Given the description of an element on the screen output the (x, y) to click on. 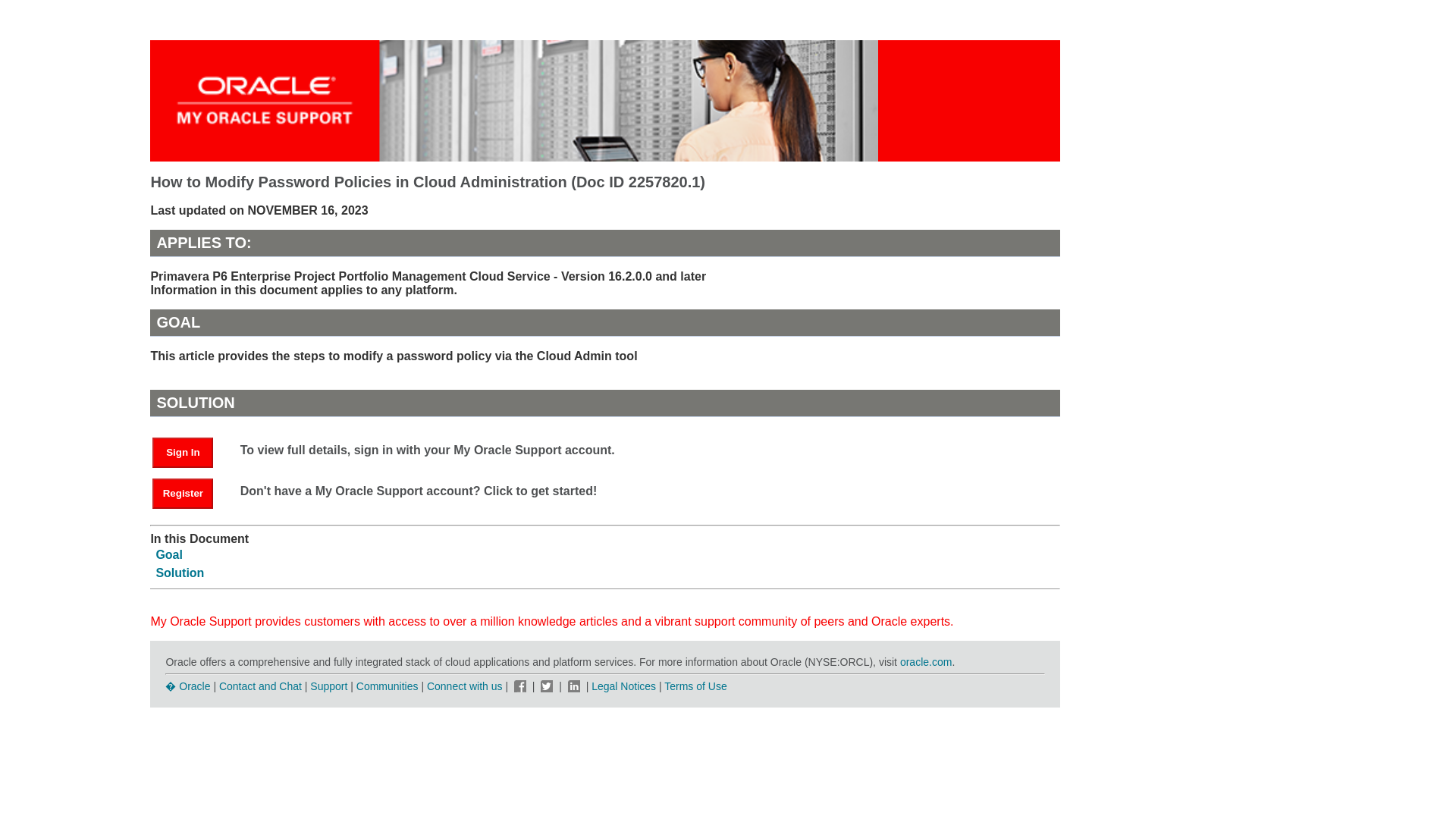
Support (328, 686)
Goal (169, 554)
oracle.com (925, 662)
Register (182, 493)
Terms of Use (694, 686)
Register (190, 492)
Connect with us (465, 686)
Sign In (190, 451)
Communities (387, 686)
Sign In (182, 452)
Contact and Chat (260, 686)
Legal Notices (623, 686)
Solution (179, 572)
oracle.com (925, 662)
